Given the description of an element on the screen output the (x, y) to click on. 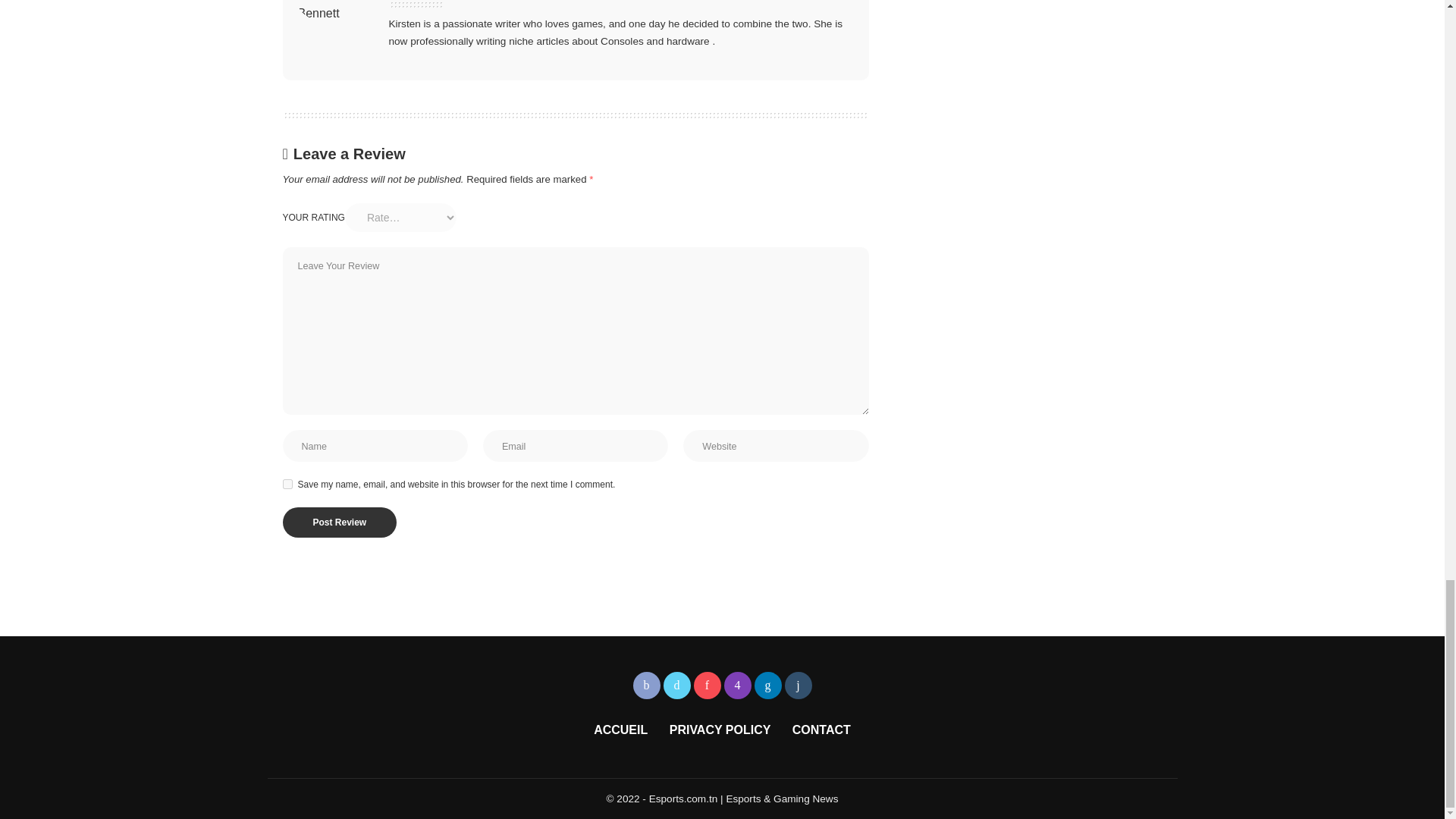
yes (287, 483)
Post Review (339, 521)
